Given the description of an element on the screen output the (x, y) to click on. 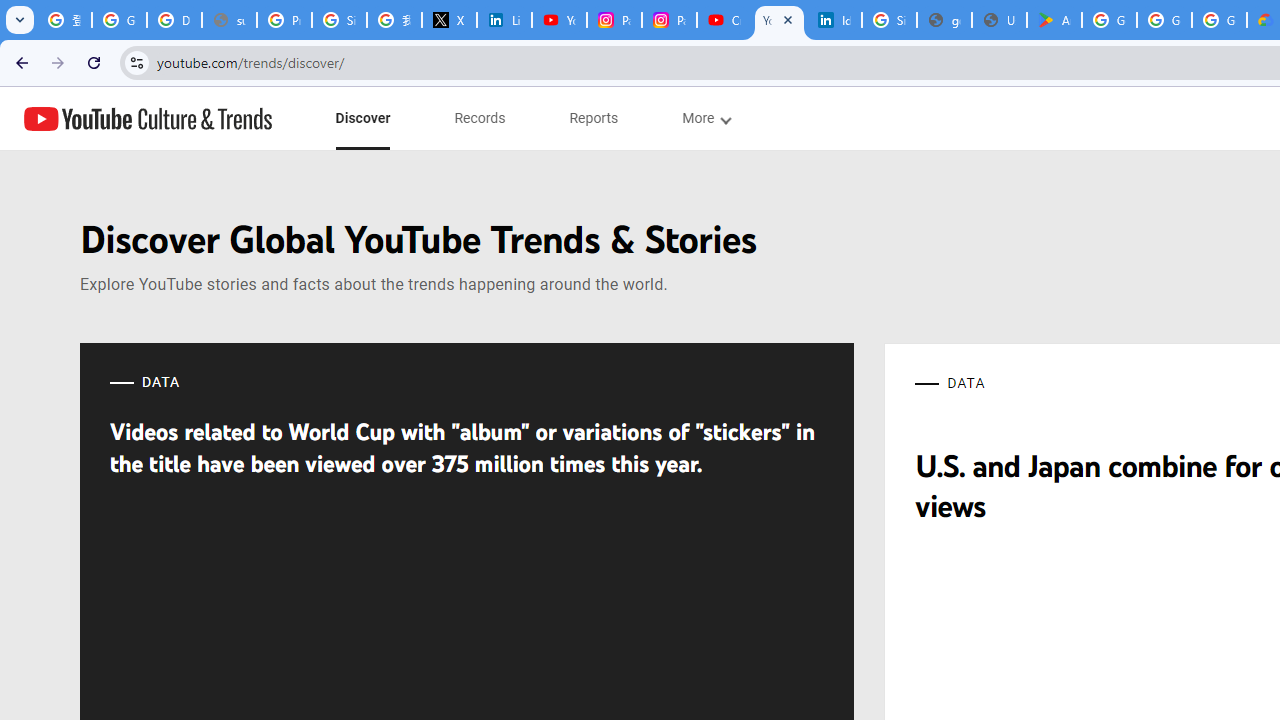
JUMP TO CONTENT (209, 119)
subnav-Discover menupopup (362, 118)
support.google.com - Network error (229, 20)
Privacy Help Center - Policies Help (284, 20)
subnav-Records menupopup (479, 118)
subnav-More menupopup (706, 118)
YouTube Content Monetization Policies - How YouTube Works (559, 20)
